Given the description of an element on the screen output the (x, y) to click on. 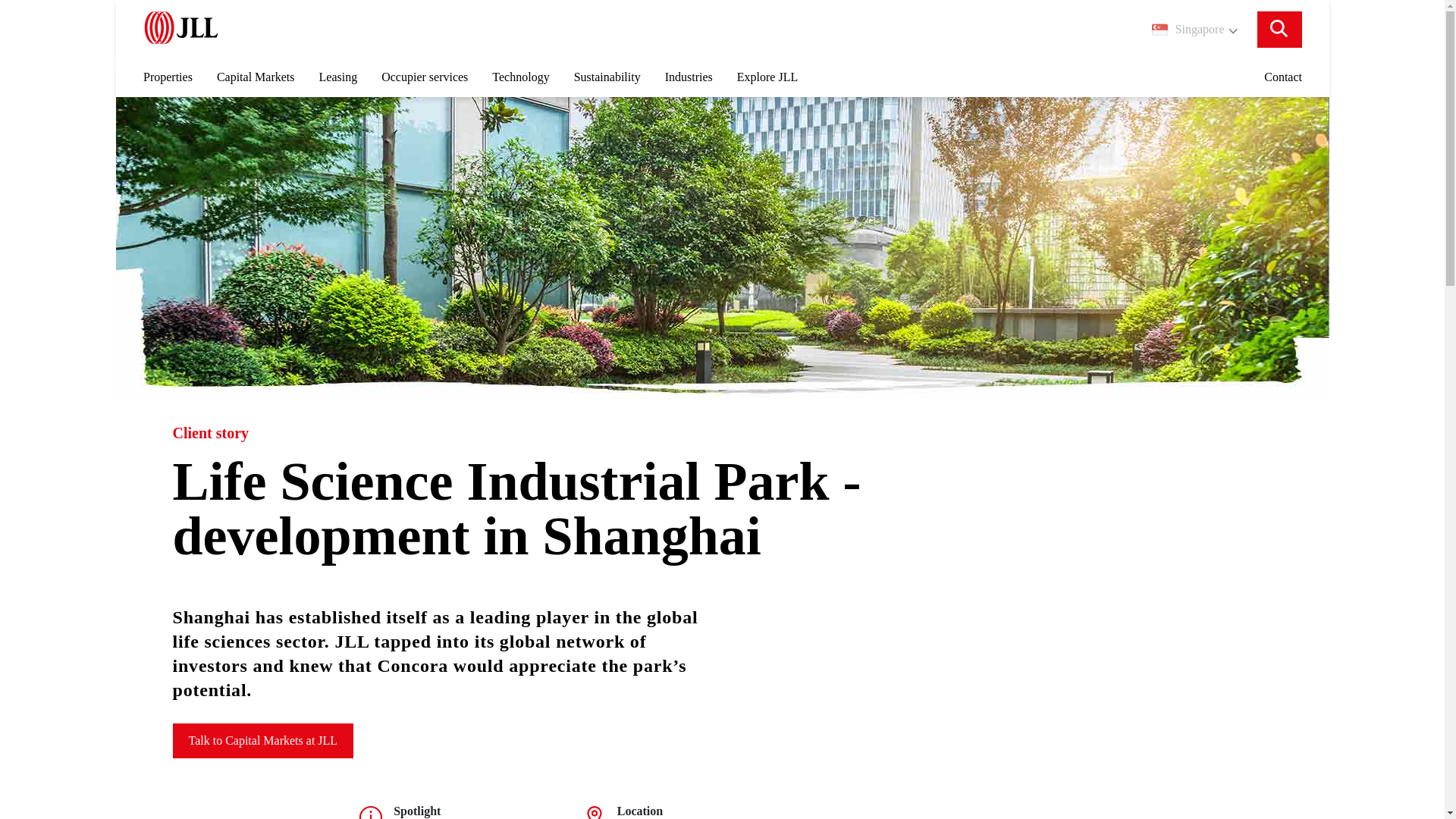
Singapore (1194, 29)
